Given the description of an element on the screen output the (x, y) to click on. 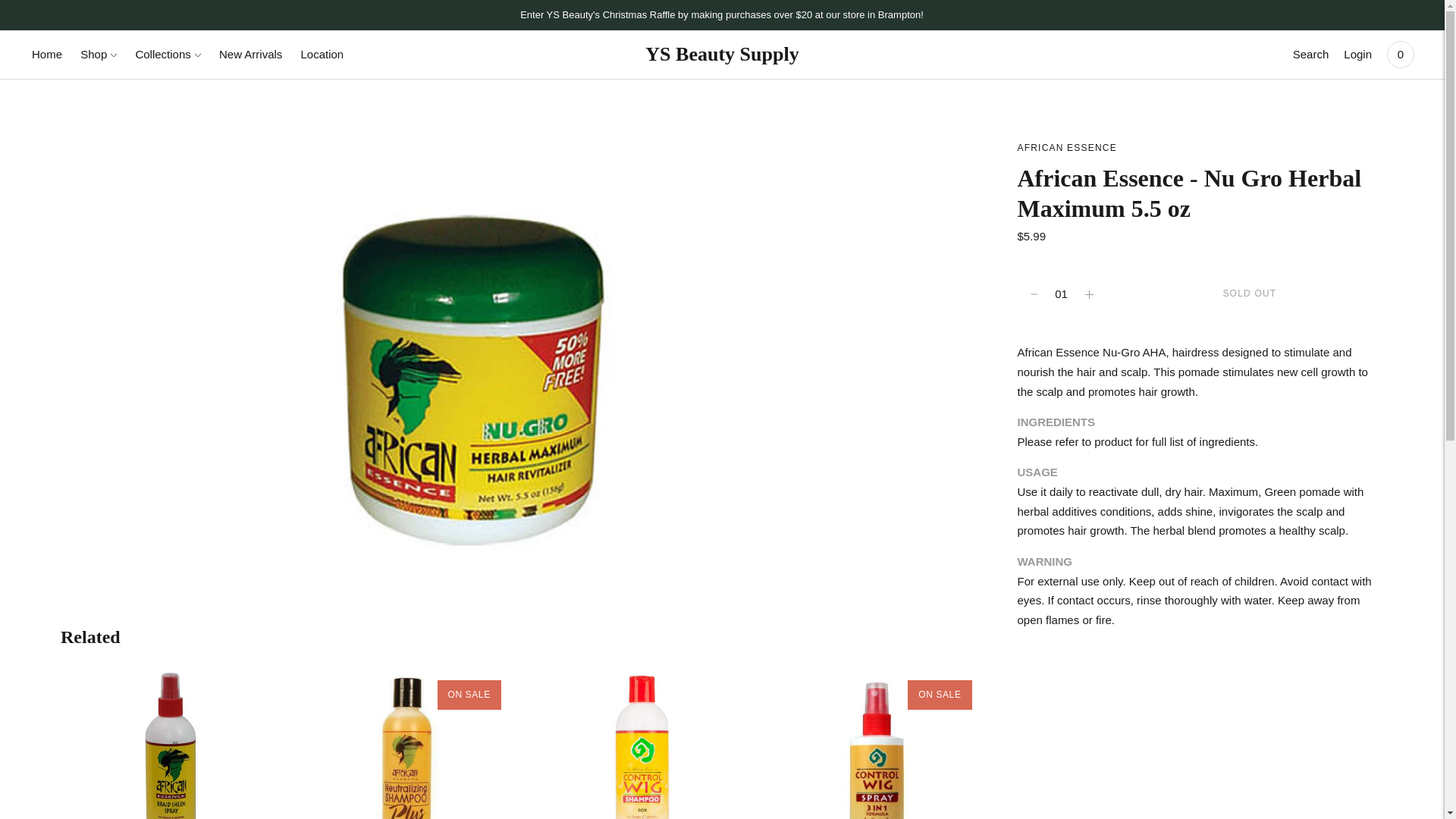
Collections (167, 54)
African Essence (1066, 147)
Home (47, 54)
01 (1061, 294)
Shop (98, 54)
